Given the description of an element on the screen output the (x, y) to click on. 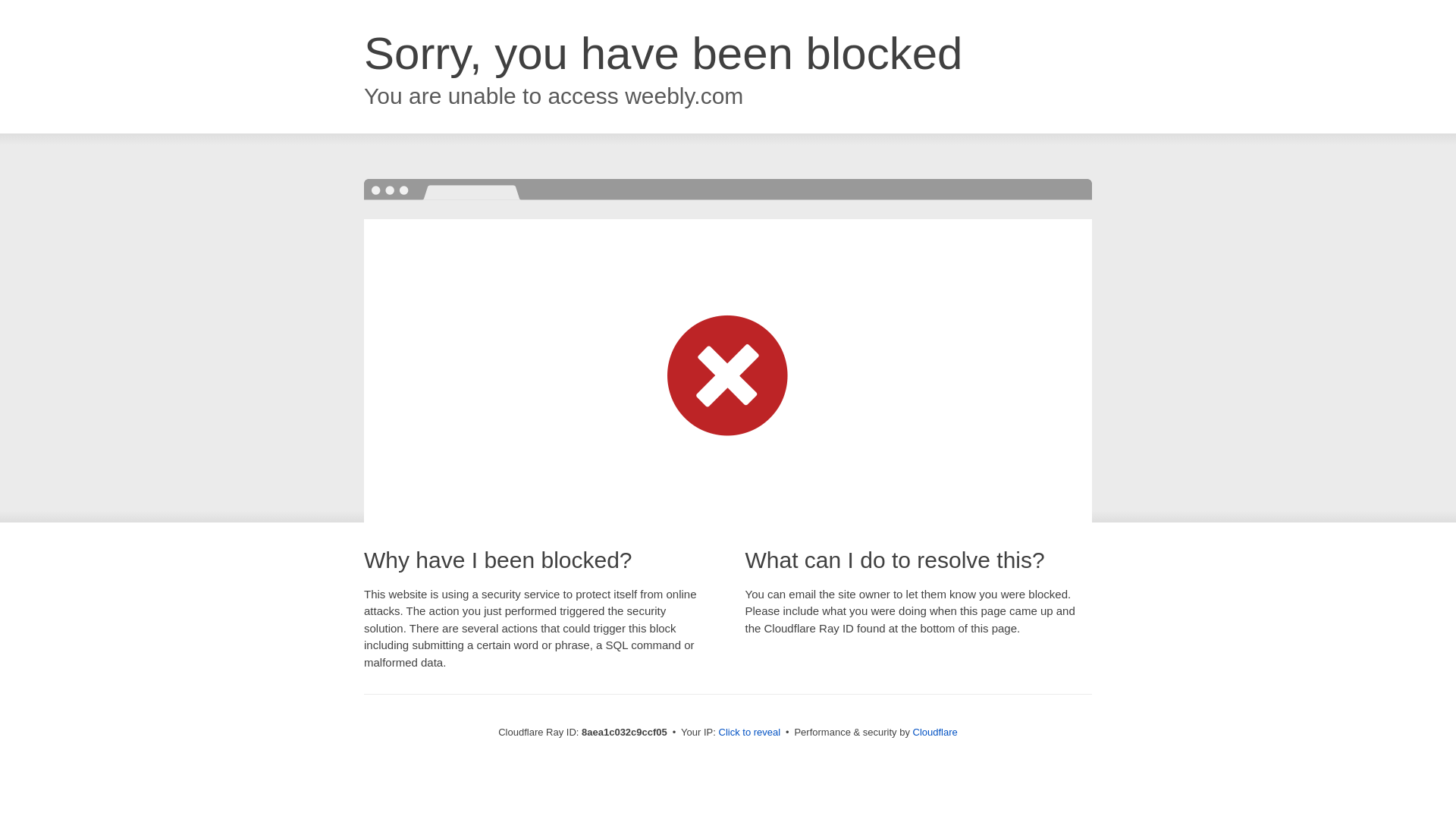
Click to reveal (749, 732)
Cloudflare (935, 731)
